Given the description of an element on the screen output the (x, y) to click on. 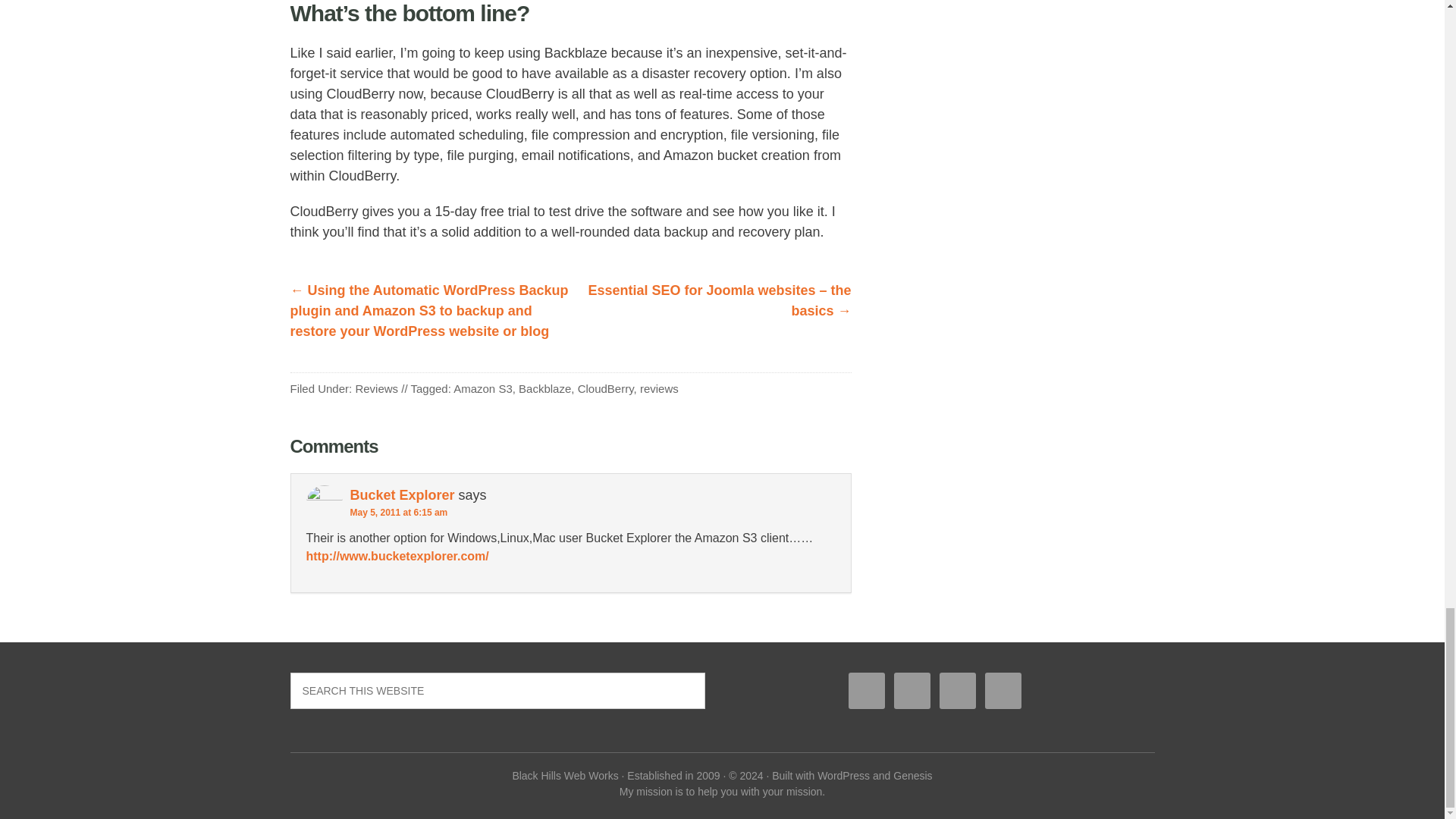
CloudBerry (605, 388)
Amazon S3 (482, 388)
May 5, 2011 at 6:15 am (399, 511)
Bucket Explorer (402, 494)
Reviews (376, 388)
Backblaze (544, 388)
reviews (659, 388)
